Given the description of an element on the screen output the (x, y) to click on. 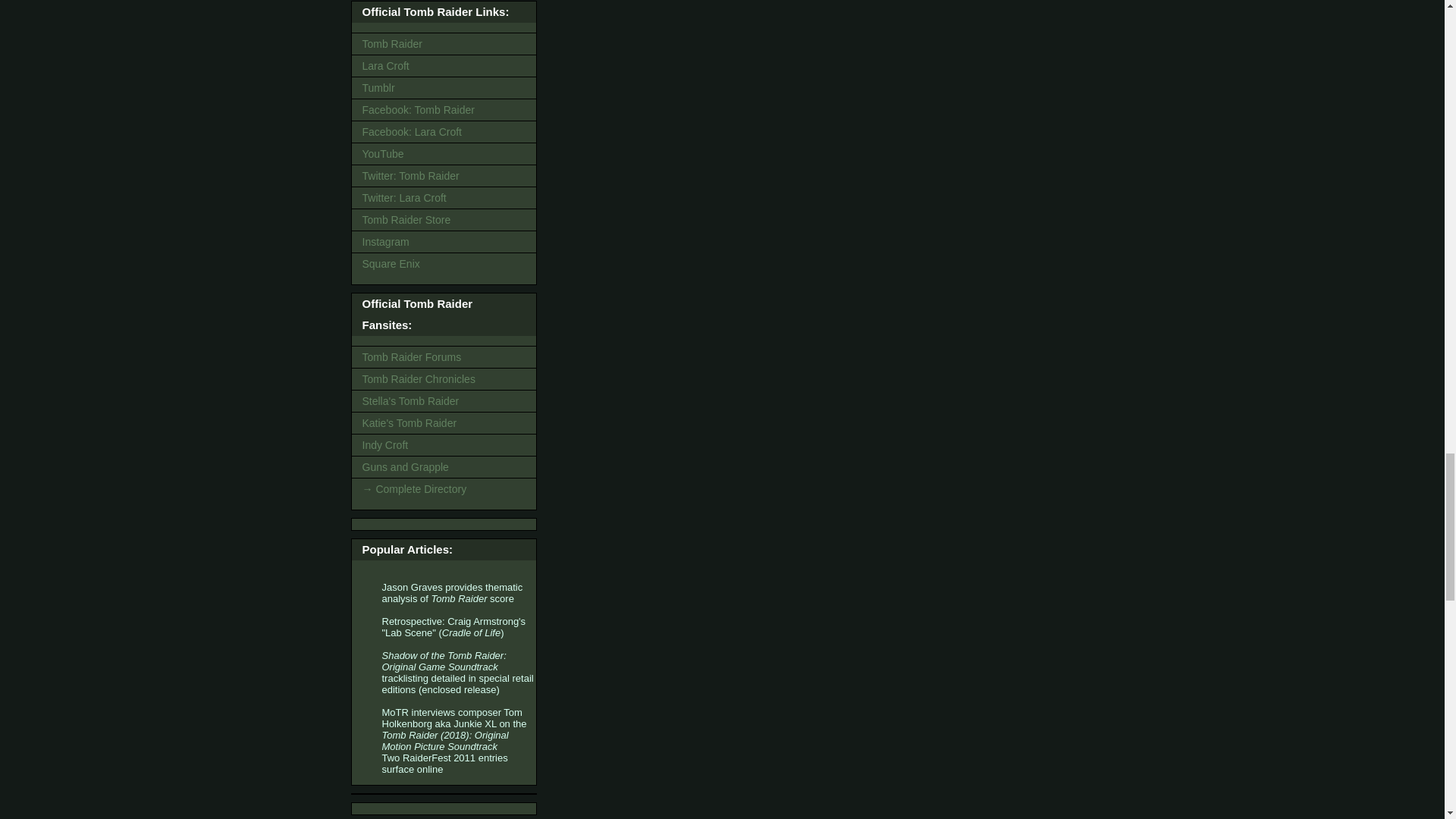
Lara Croft (443, 65)
Facebook: Lara Croft (443, 131)
Tomb Raider (443, 43)
Facebook: Tomb Raider (443, 109)
Tumblr (443, 87)
